Given the description of an element on the screen output the (x, y) to click on. 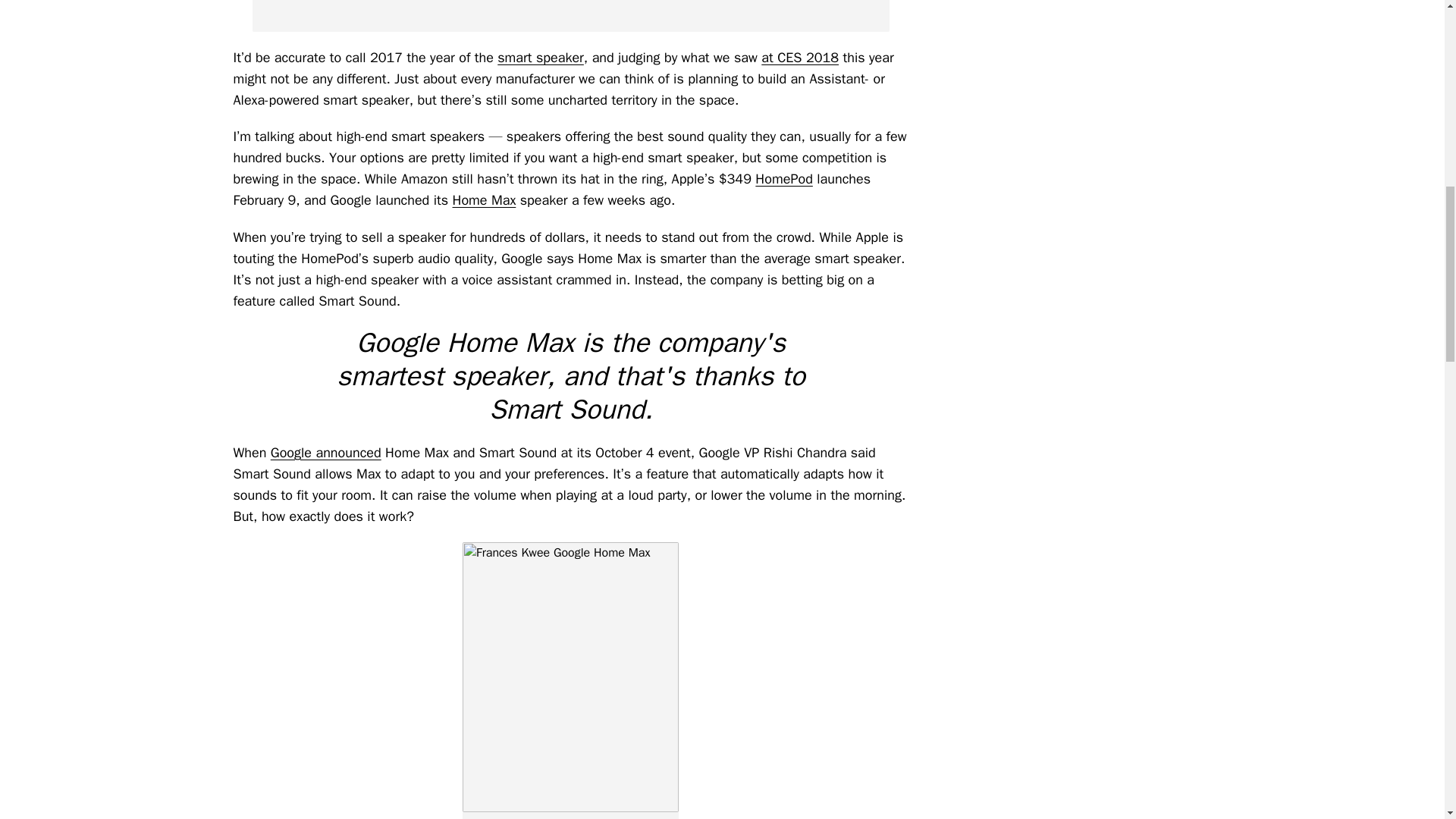
smart speaker (540, 57)
Frances Kwee Google Home Max (570, 677)
Home Max (484, 199)
Google Home Max AA 1 (569, 15)
HomePod (783, 178)
Google announced (325, 452)
at CES 2018 (799, 57)
